Given the description of an element on the screen output the (x, y) to click on. 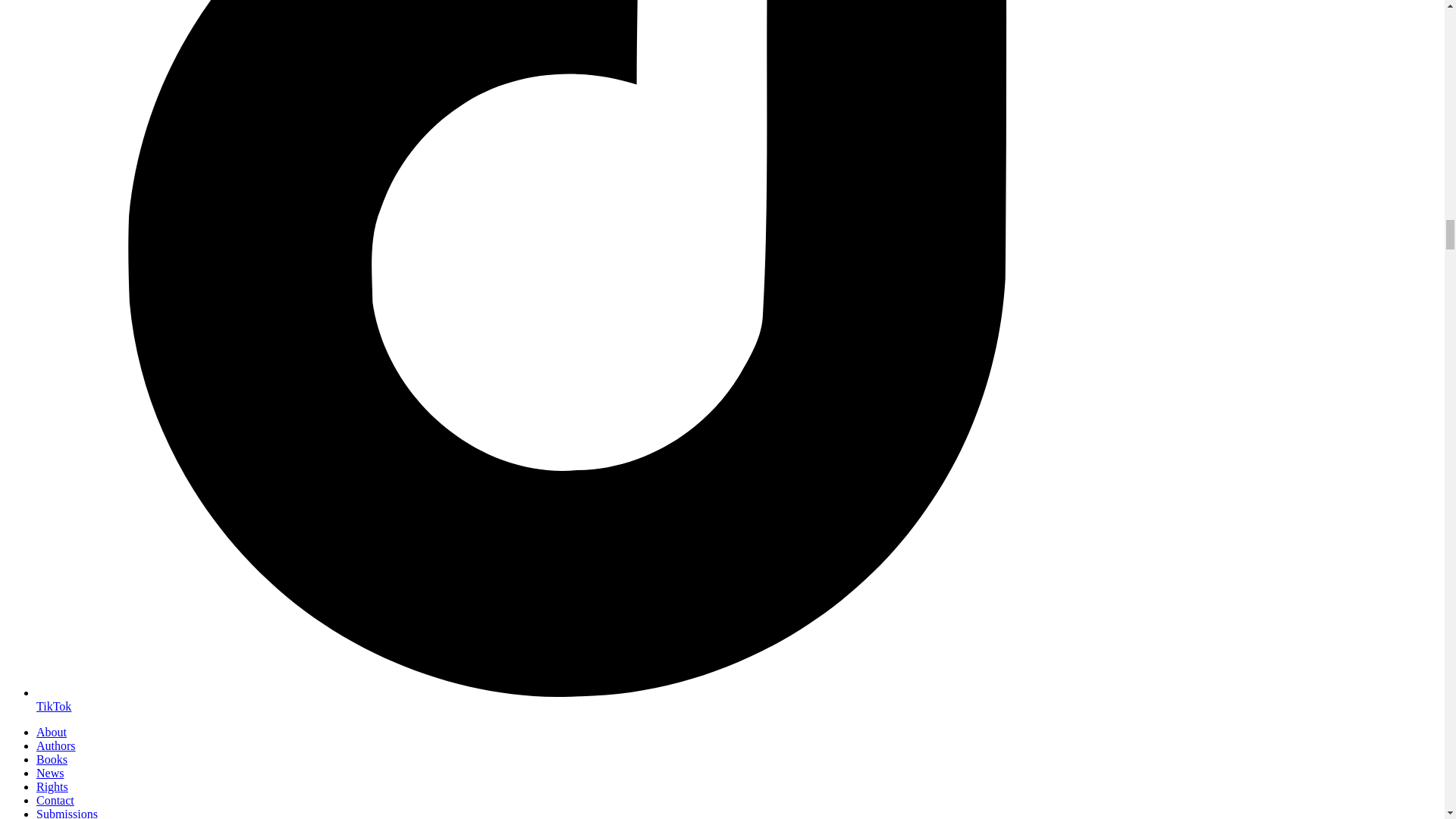
Authors (55, 745)
Contact (55, 799)
Books (51, 758)
Rights (52, 786)
Submissions (66, 813)
About (51, 731)
News (50, 772)
